Given the description of an element on the screen output the (x, y) to click on. 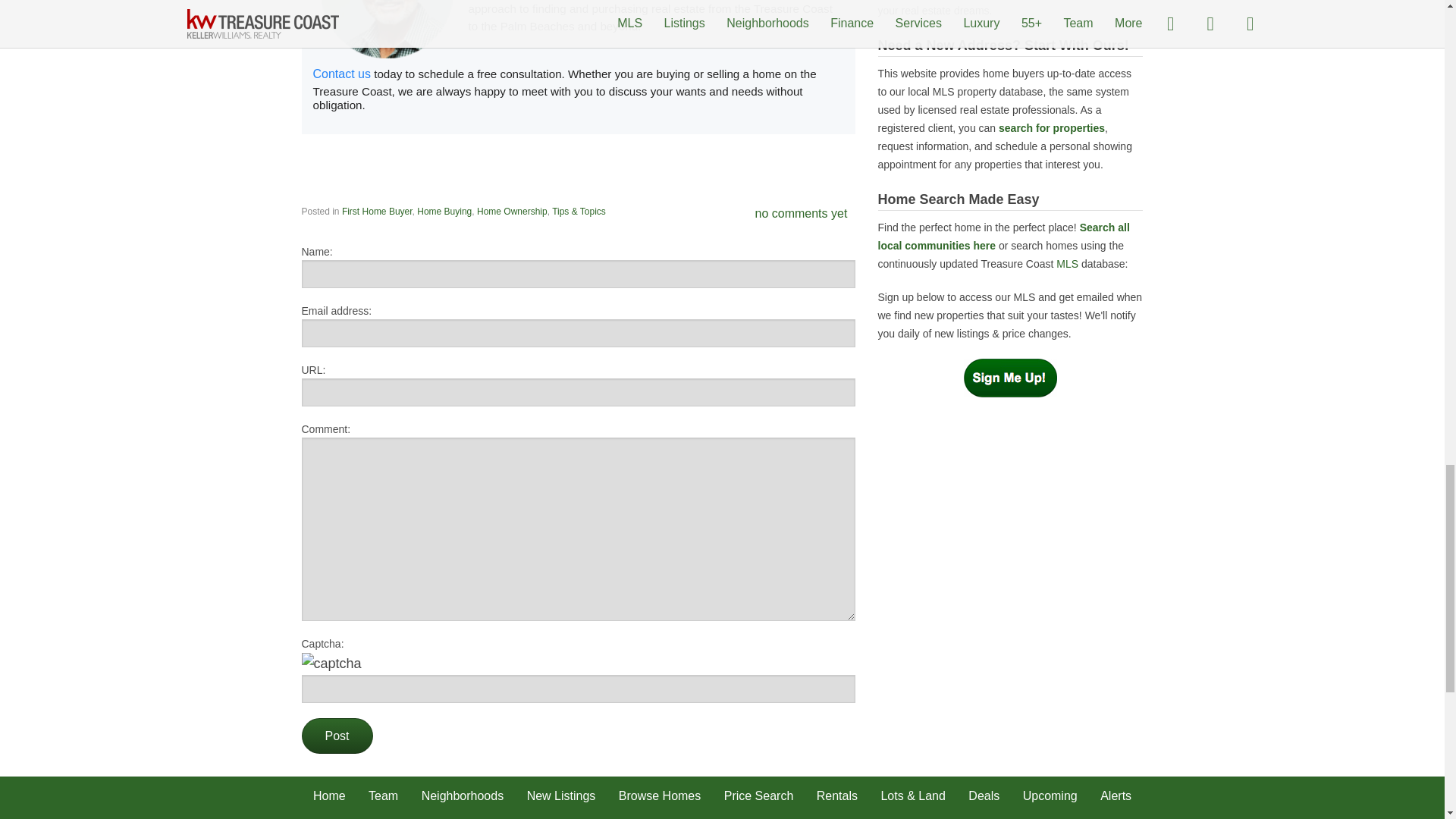
Search all Treasure Coast Communities (1003, 236)
First Home Buyer (377, 211)
Post (336, 736)
Home Buying (443, 211)
Advanced Home Search (1051, 128)
Home Ownership (512, 211)
Home Search Sign Up (1009, 377)
Search iur local MLS database. (1067, 263)
no comments yet (801, 213)
Eric Slifkin (341, 73)
Contact us (341, 73)
Post (336, 736)
